Given the description of an element on the screen output the (x, y) to click on. 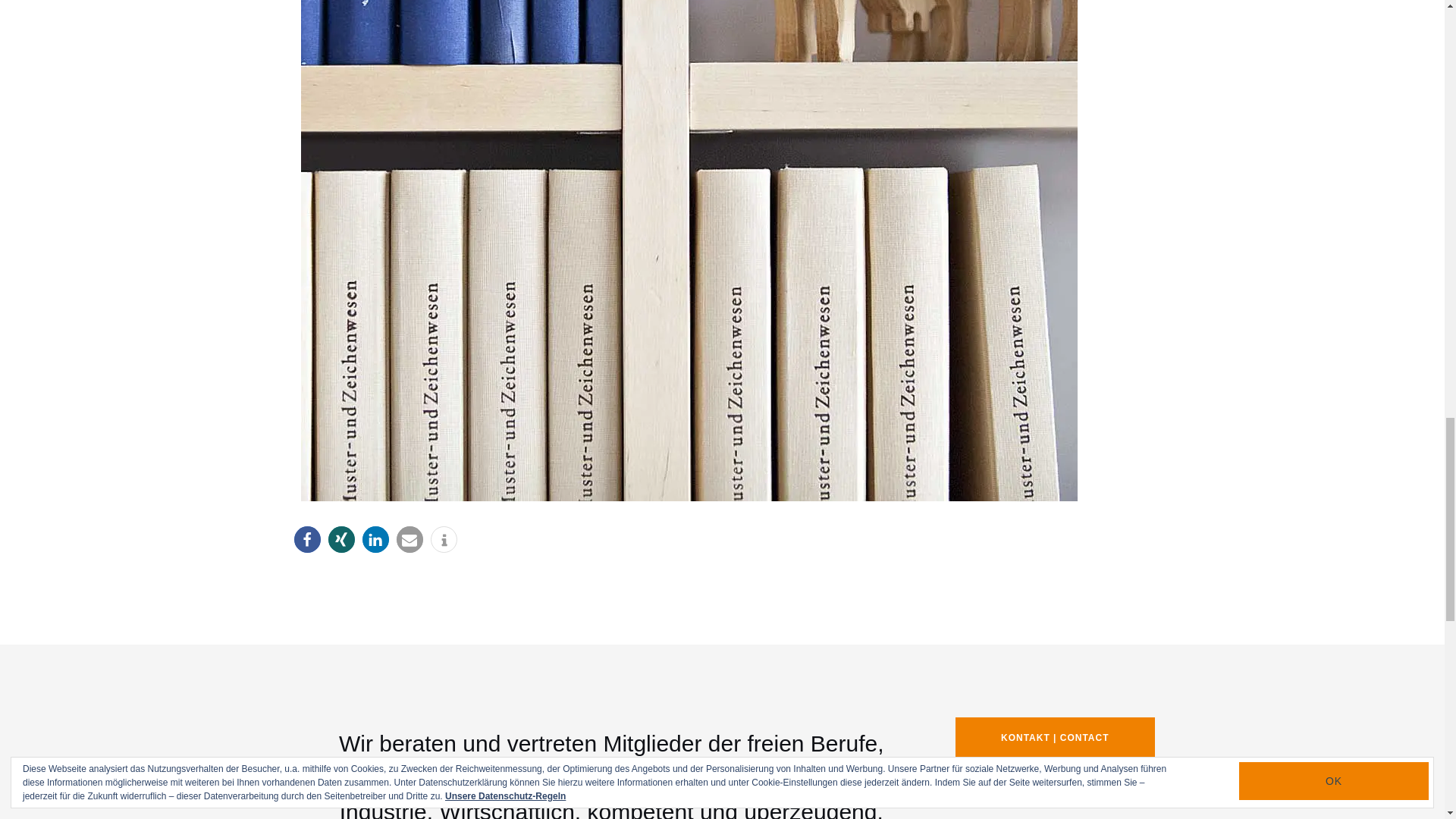
Share on XING (340, 539)
Share on Facebook (307, 539)
More information (443, 539)
Send by email (409, 539)
Share on LinkedIn (375, 539)
